Given the description of an element on the screen output the (x, y) to click on. 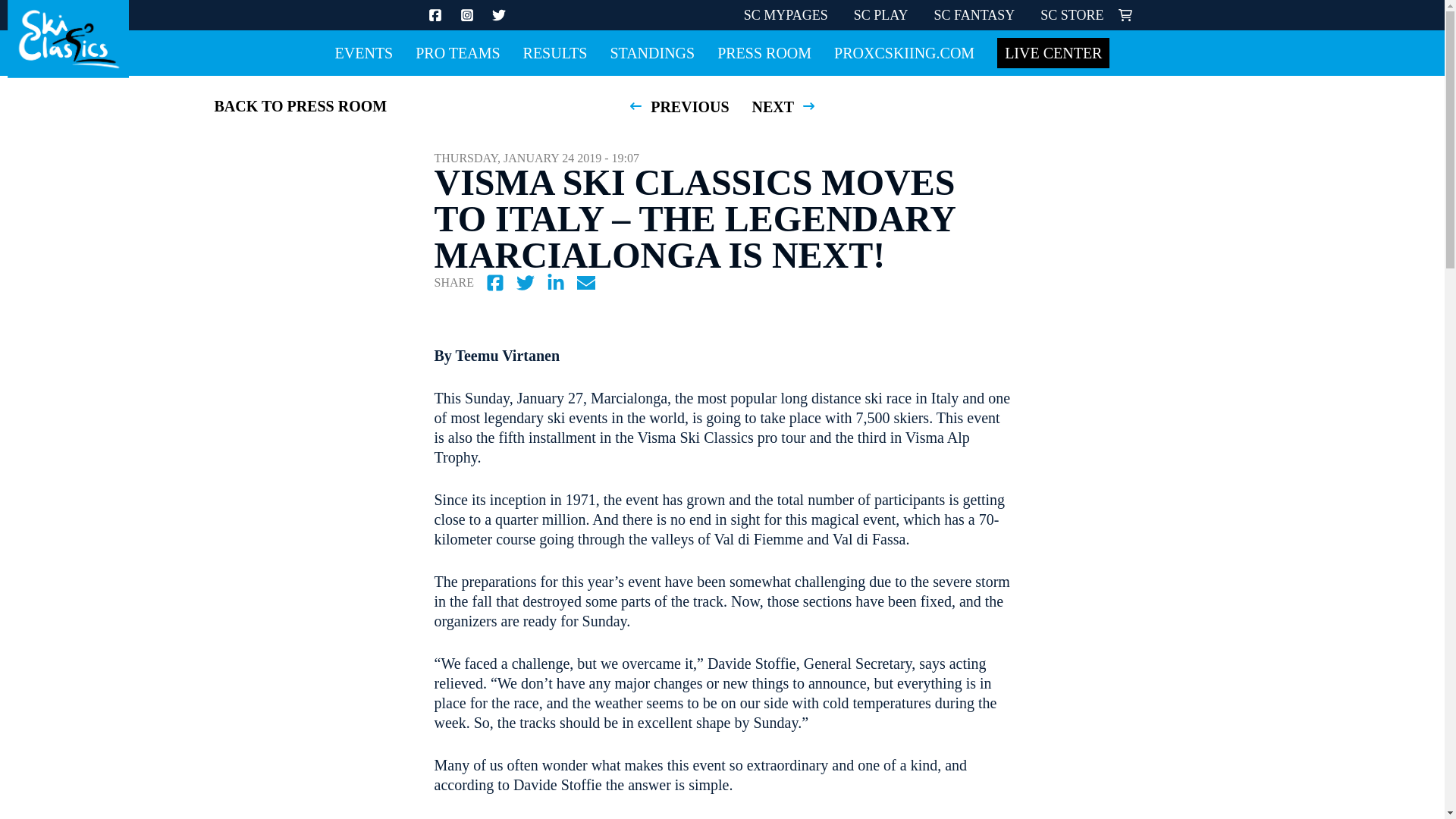
Share on Facebook (495, 281)
NEXT (785, 106)
SC MYPAGES (786, 14)
PRESS ROOM (763, 52)
EVENTS (363, 52)
LIVE CENTER (1053, 52)
Share on Twitter (525, 281)
PRO TEAMS (456, 52)
SC FANTASY (974, 14)
SC STORE (1072, 14)
Share on LinkedIn (555, 281)
STANDINGS (652, 52)
PREVIOUS (676, 106)
RESULTS (555, 52)
PROXCSKIING.COM (904, 52)
